Given the description of an element on the screen output the (x, y) to click on. 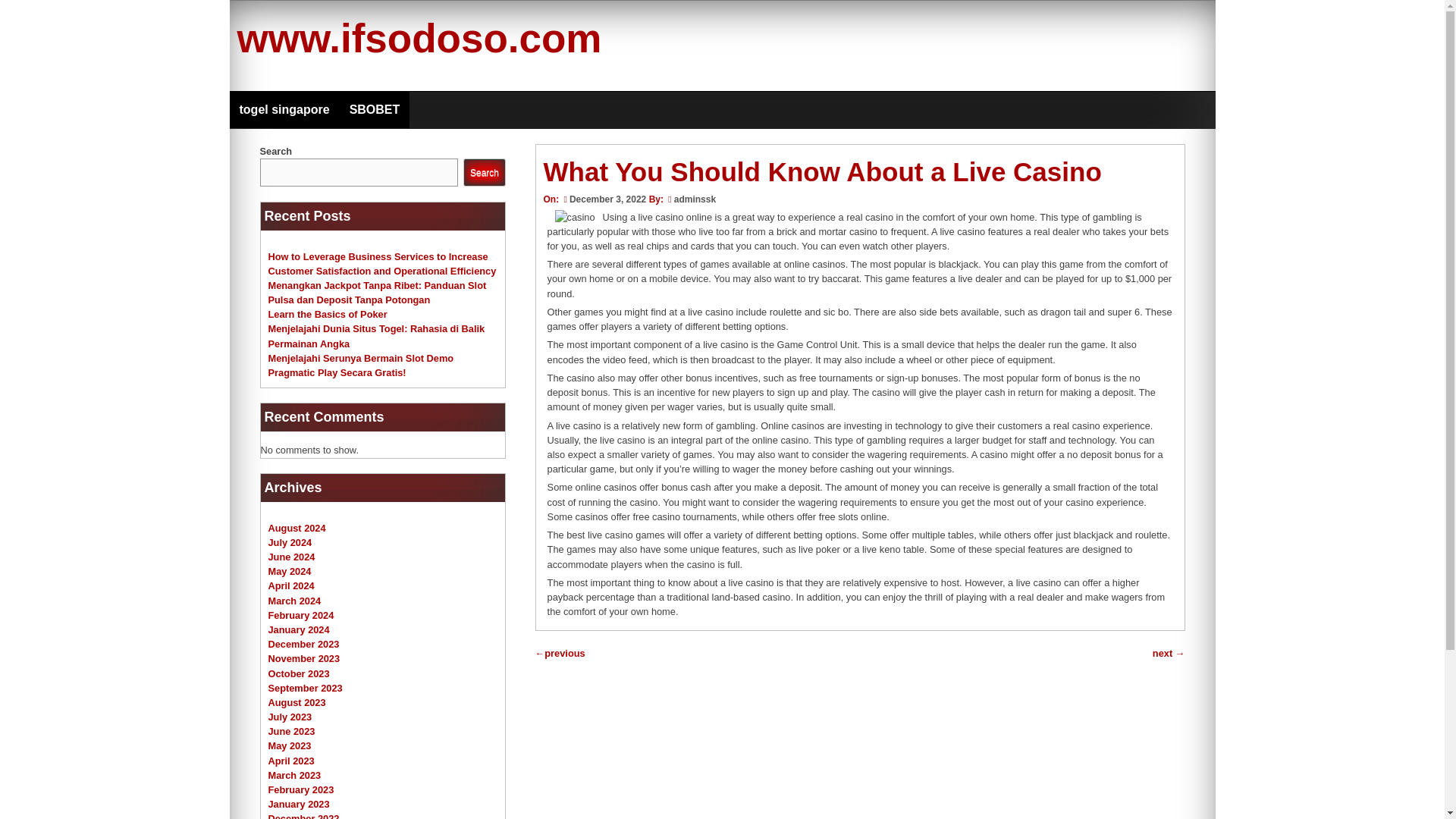
adminssk (695, 199)
July 2023 (290, 716)
June 2023 (291, 731)
August 2024 (296, 527)
Learn the Basics of Poker (327, 314)
June 2024 (291, 556)
December 2023 (303, 644)
May 2023 (289, 745)
February 2023 (300, 789)
April 2024 (290, 585)
